Given the description of an element on the screen output the (x, y) to click on. 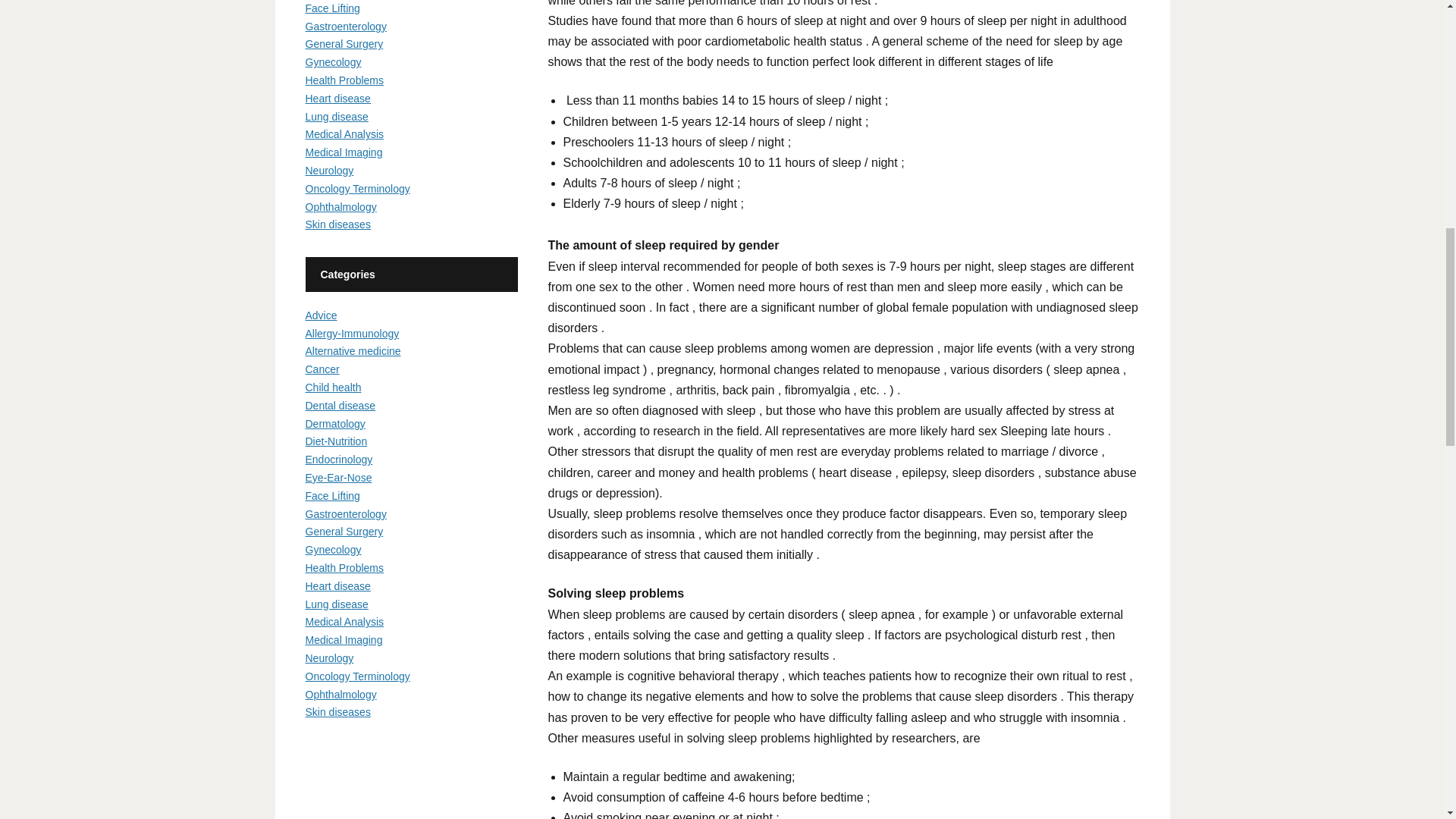
Gastroenterology (344, 26)
Face Lifting (331, 8)
General Surgery (343, 43)
